Given the description of an element on the screen output the (x, y) to click on. 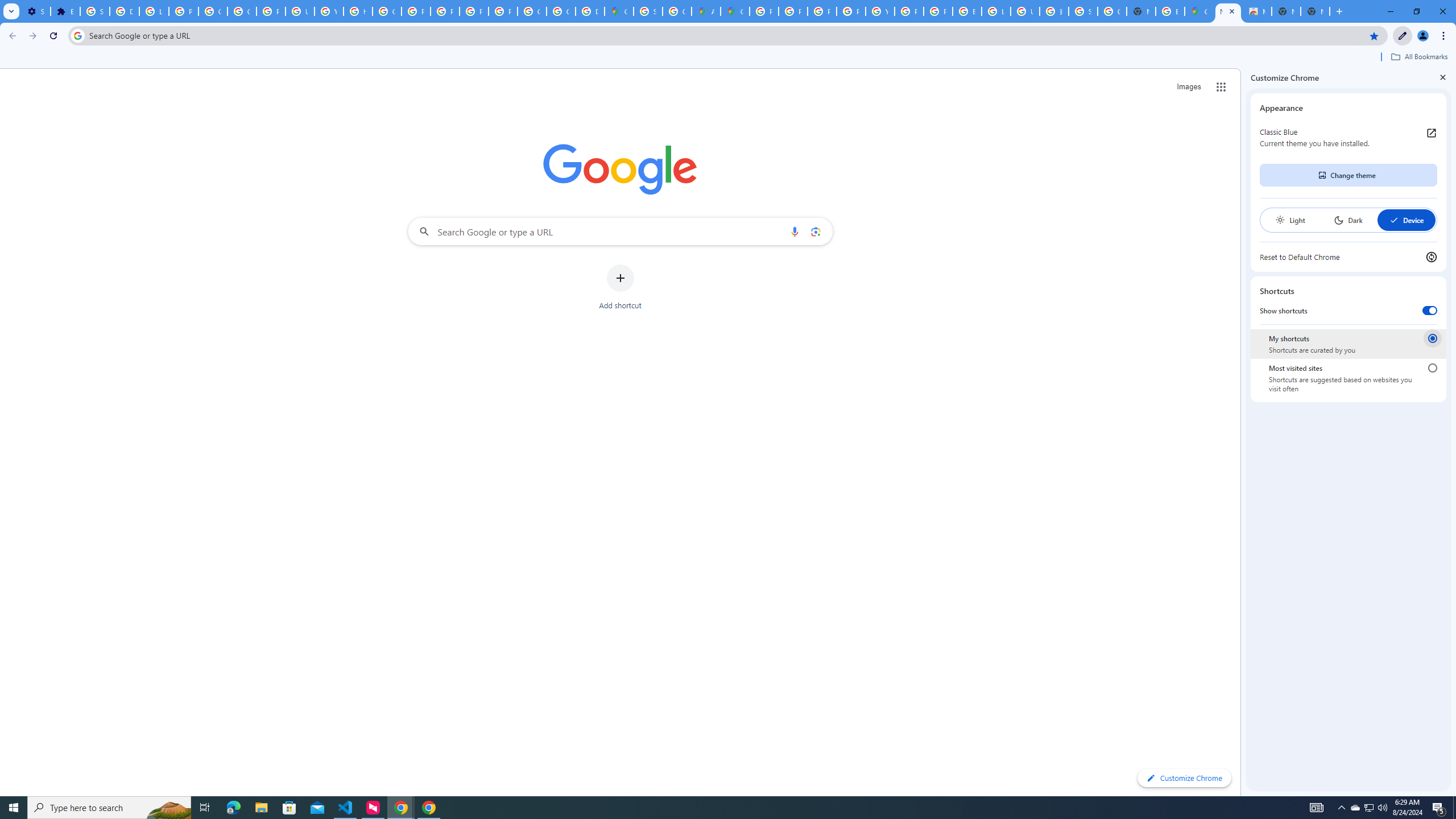
Extensions (65, 11)
Search by voice (794, 230)
Google Account Help (212, 11)
Search for Images  (1188, 87)
Google Account Help (242, 11)
All Bookmarks (1418, 56)
New Tab (1227, 11)
Search icon (77, 35)
Reset to Default Chrome (1347, 256)
